Given the description of an element on the screen output the (x, y) to click on. 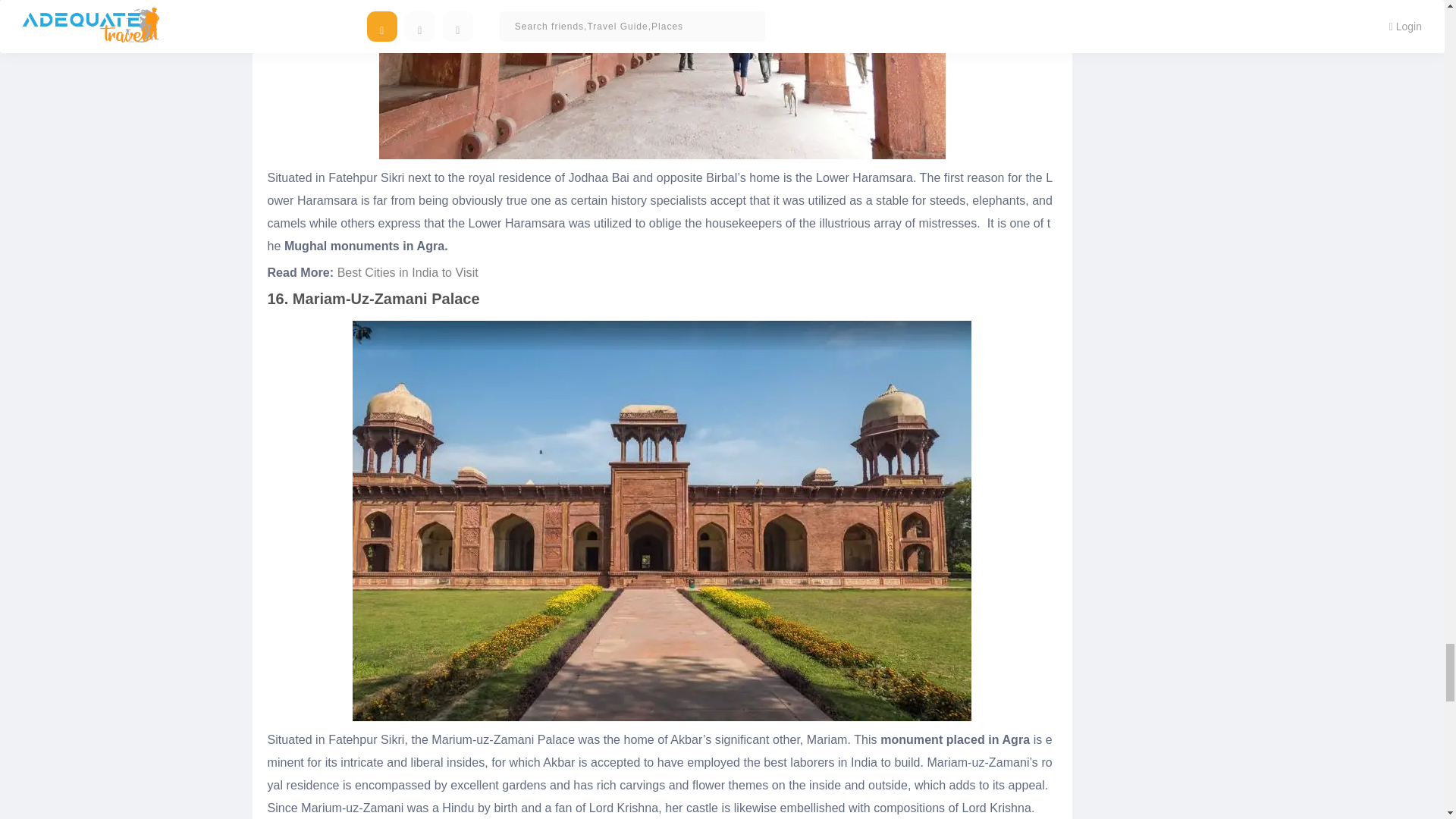
Best Cities in India to Visit (408, 272)
